Given the description of an element on the screen output the (x, y) to click on. 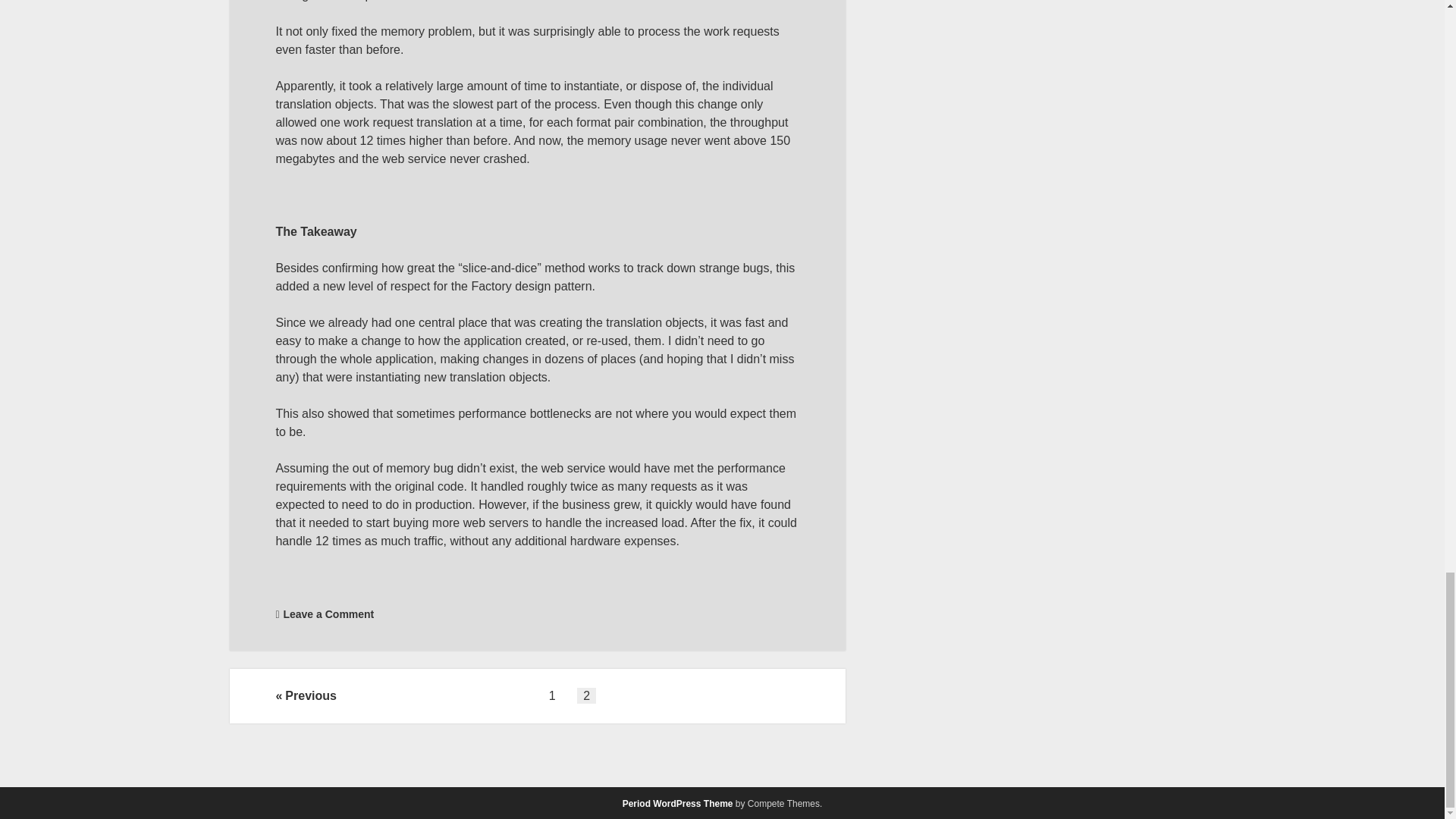
Leave a Comment (328, 613)
Period WordPress Theme (678, 803)
Previous (305, 696)
